Given the description of an element on the screen output the (x, y) to click on. 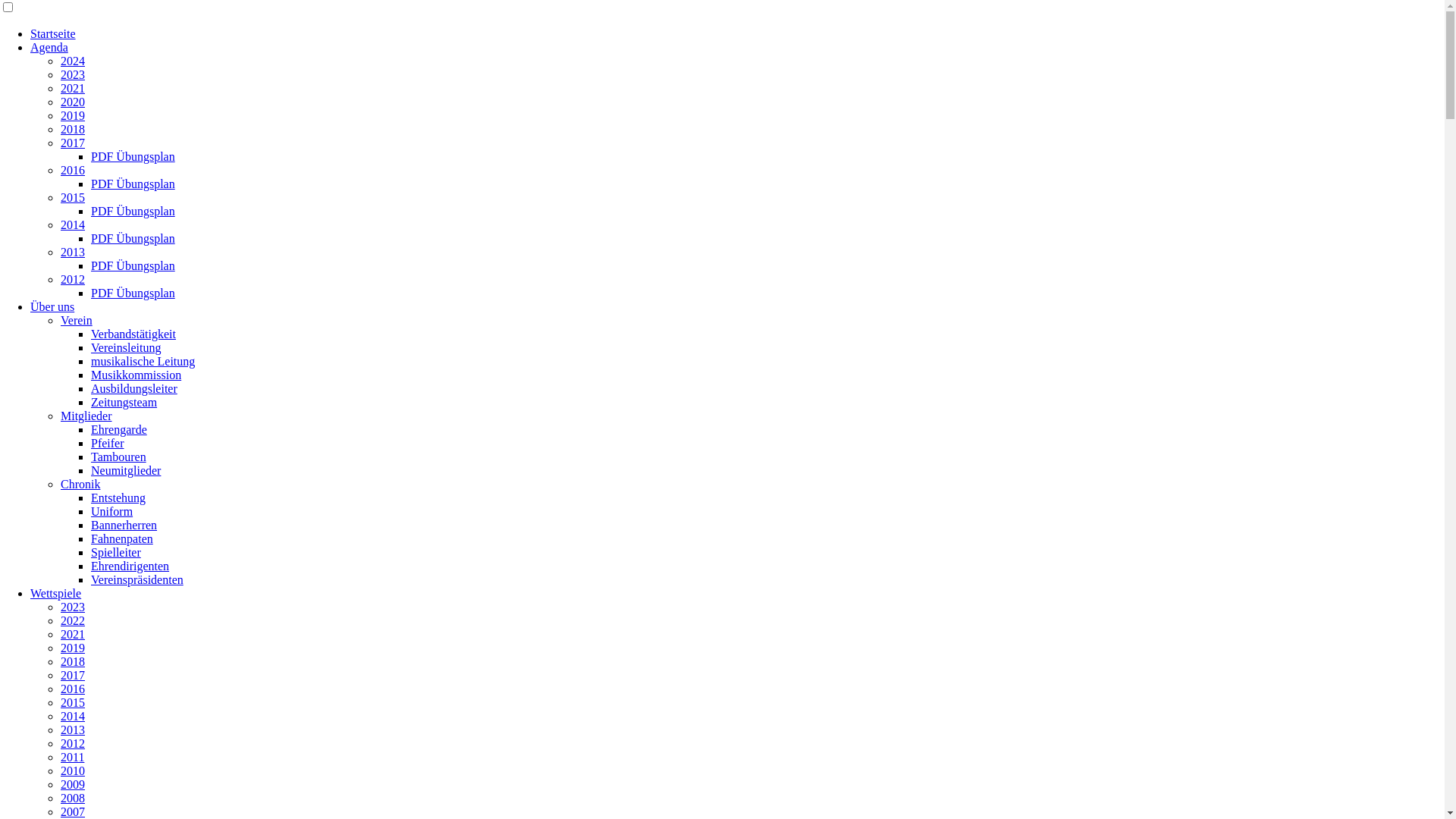
Zeitungsteam Element type: text (123, 401)
Fahnenpaten Element type: text (122, 538)
2023 Element type: text (72, 74)
Musikkommission Element type: text (136, 374)
2013 Element type: text (72, 251)
2021 Element type: text (72, 87)
Bannerherren Element type: text (123, 524)
2015 Element type: text (72, 702)
Chronik Element type: text (80, 483)
Wettspiele Element type: text (55, 592)
2015 Element type: text (72, 197)
2020 Element type: text (72, 101)
Spielleiter Element type: text (116, 552)
2019 Element type: text (72, 115)
2016 Element type: text (72, 688)
2018 Element type: text (72, 128)
musikalische Leitung Element type: text (142, 360)
2012 Element type: text (72, 279)
2011 Element type: text (72, 756)
2018 Element type: text (72, 661)
Startseite Element type: text (52, 33)
Ausbildungsleiter Element type: text (134, 388)
2012 Element type: text (72, 743)
2017 Element type: text (72, 674)
Tambouren Element type: text (118, 456)
2010 Element type: text (72, 770)
Ehrengarde Element type: text (119, 429)
Neumitglieder Element type: text (125, 470)
Entstehung Element type: text (118, 497)
Verein Element type: text (76, 319)
Pfeifer Element type: text (107, 442)
2014 Element type: text (72, 715)
2019 Element type: text (72, 647)
2024 Element type: text (72, 60)
2016 Element type: text (72, 169)
2017 Element type: text (72, 142)
Ehrendirigenten Element type: text (130, 565)
2007 Element type: text (72, 811)
2009 Element type: text (72, 784)
2021 Element type: text (72, 633)
2013 Element type: text (72, 729)
2022 Element type: text (72, 620)
2023 Element type: text (72, 606)
Mitglieder Element type: text (86, 415)
Agenda Element type: text (49, 46)
Uniform Element type: text (111, 511)
2014 Element type: text (72, 224)
Vereinsleitung Element type: text (125, 347)
2008 Element type: text (72, 797)
